Given the description of an element on the screen output the (x, y) to click on. 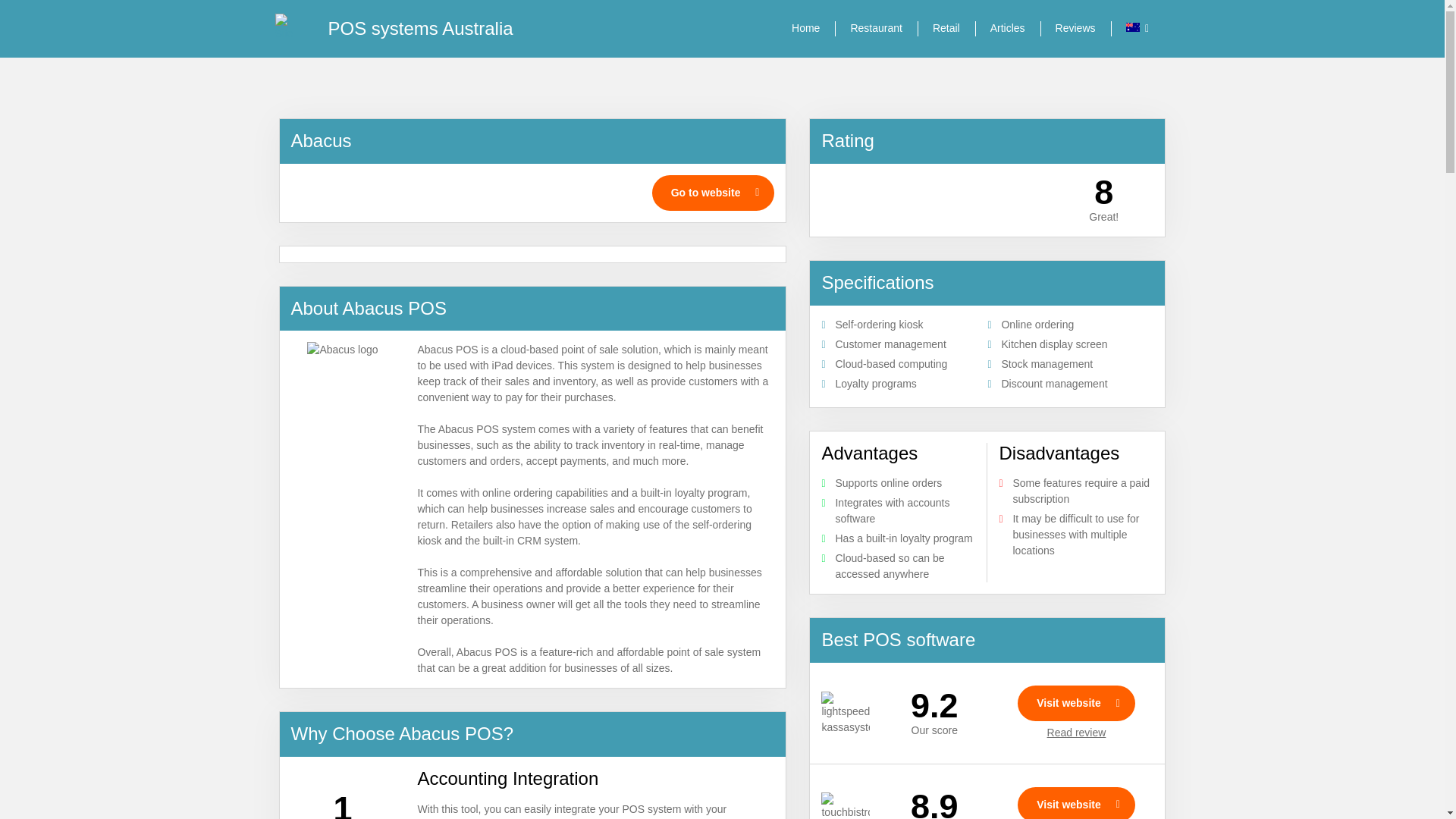
Go to website (713, 192)
Reviews (1075, 28)
Visit website (1076, 703)
Home (805, 28)
Visit website (1076, 803)
Retail (946, 28)
Read review (1076, 732)
Articles (1008, 28)
Restaurant (875, 28)
